Given the description of an element on the screen output the (x, y) to click on. 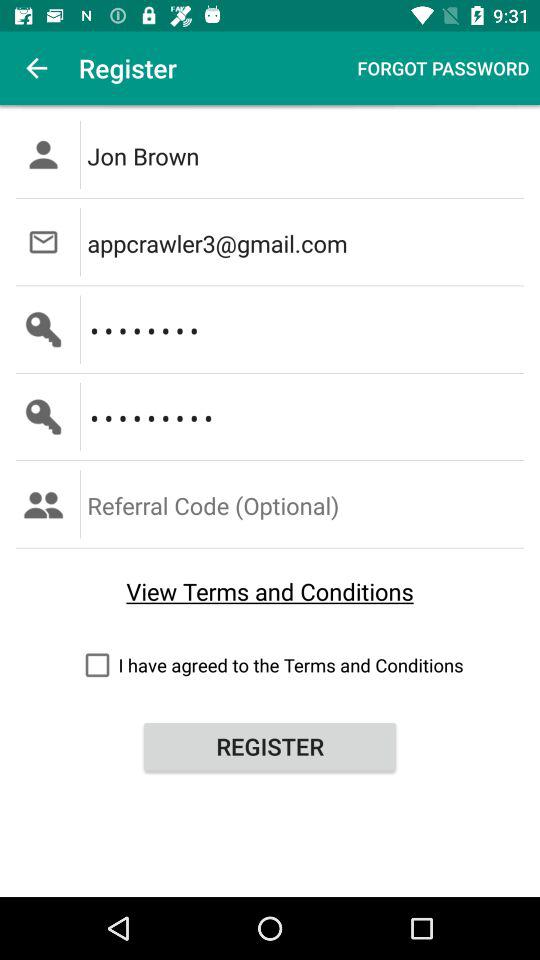
jump until the crowd3116 icon (306, 416)
